Given the description of an element on the screen output the (x, y) to click on. 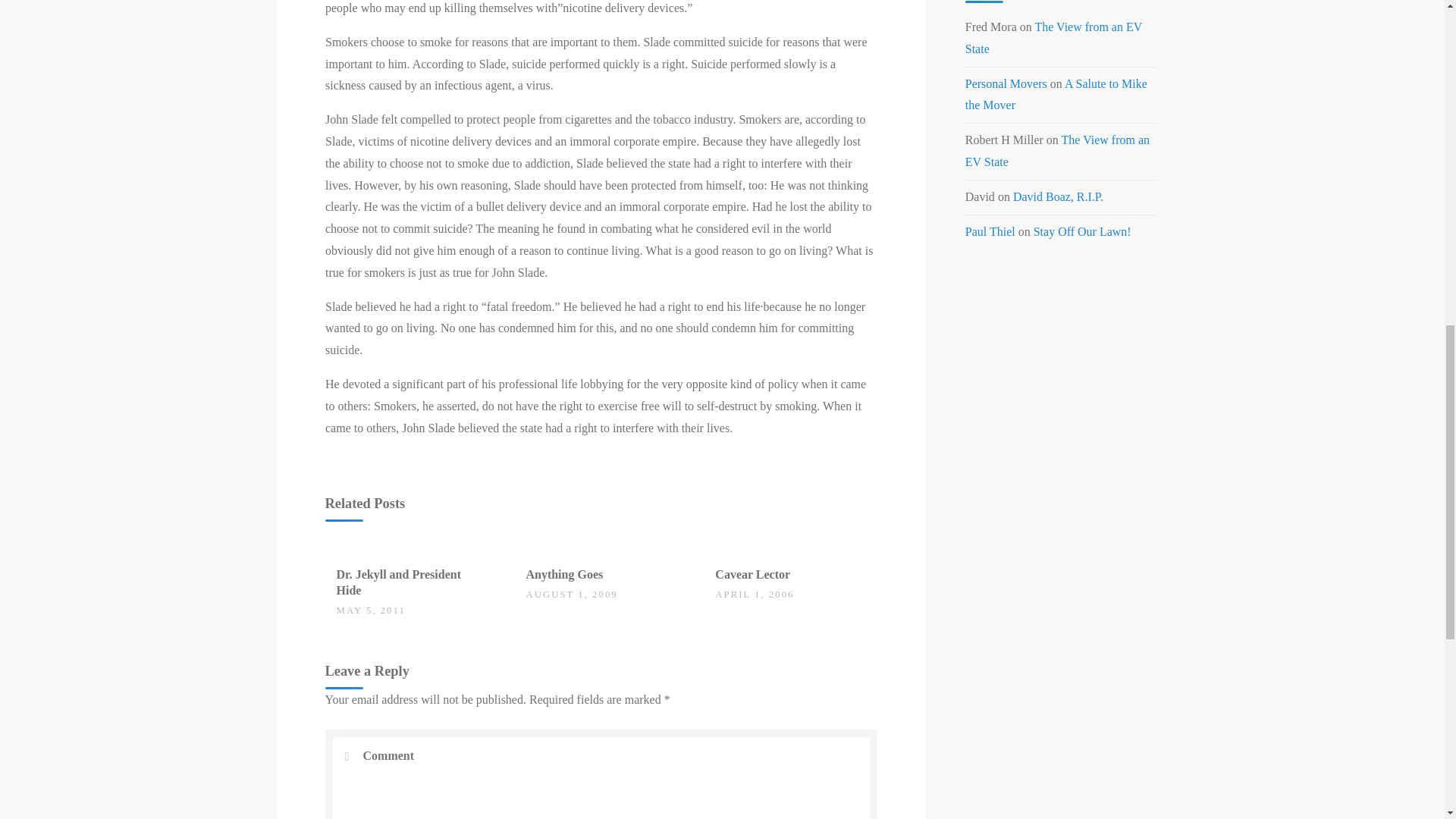
Page 18 (600, 405)
0 (533, 566)
0 (344, 566)
Dr. Jekyll and President Hide (398, 582)
